Given the description of an element on the screen output the (x, y) to click on. 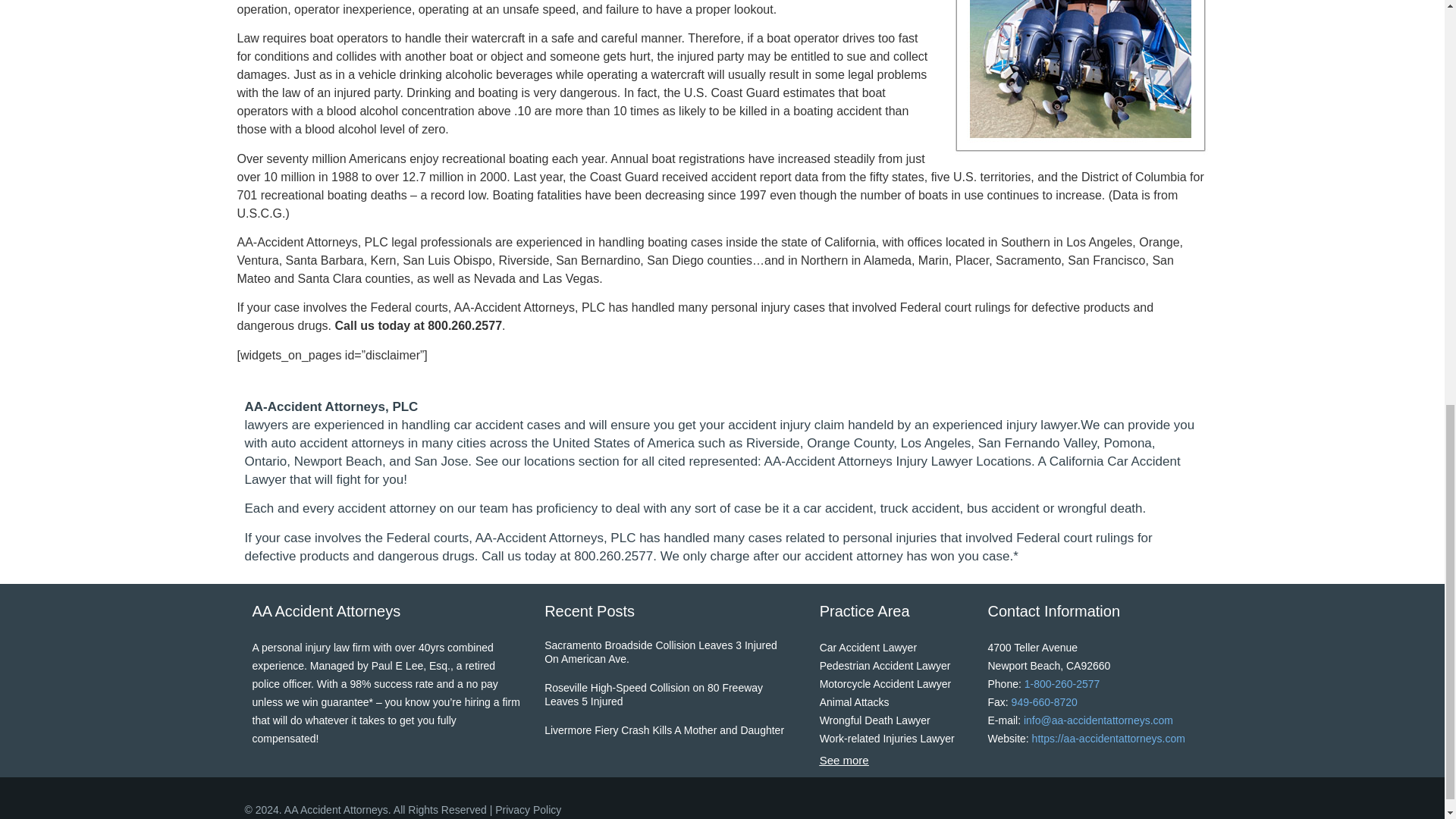
See more (844, 759)
949-660-8720 (1044, 702)
Livermore Fiery Crash Kills A Mother and Daughter (664, 733)
1-800-260-2577 (1062, 684)
Privacy Policy (527, 809)
